Given the description of an element on the screen output the (x, y) to click on. 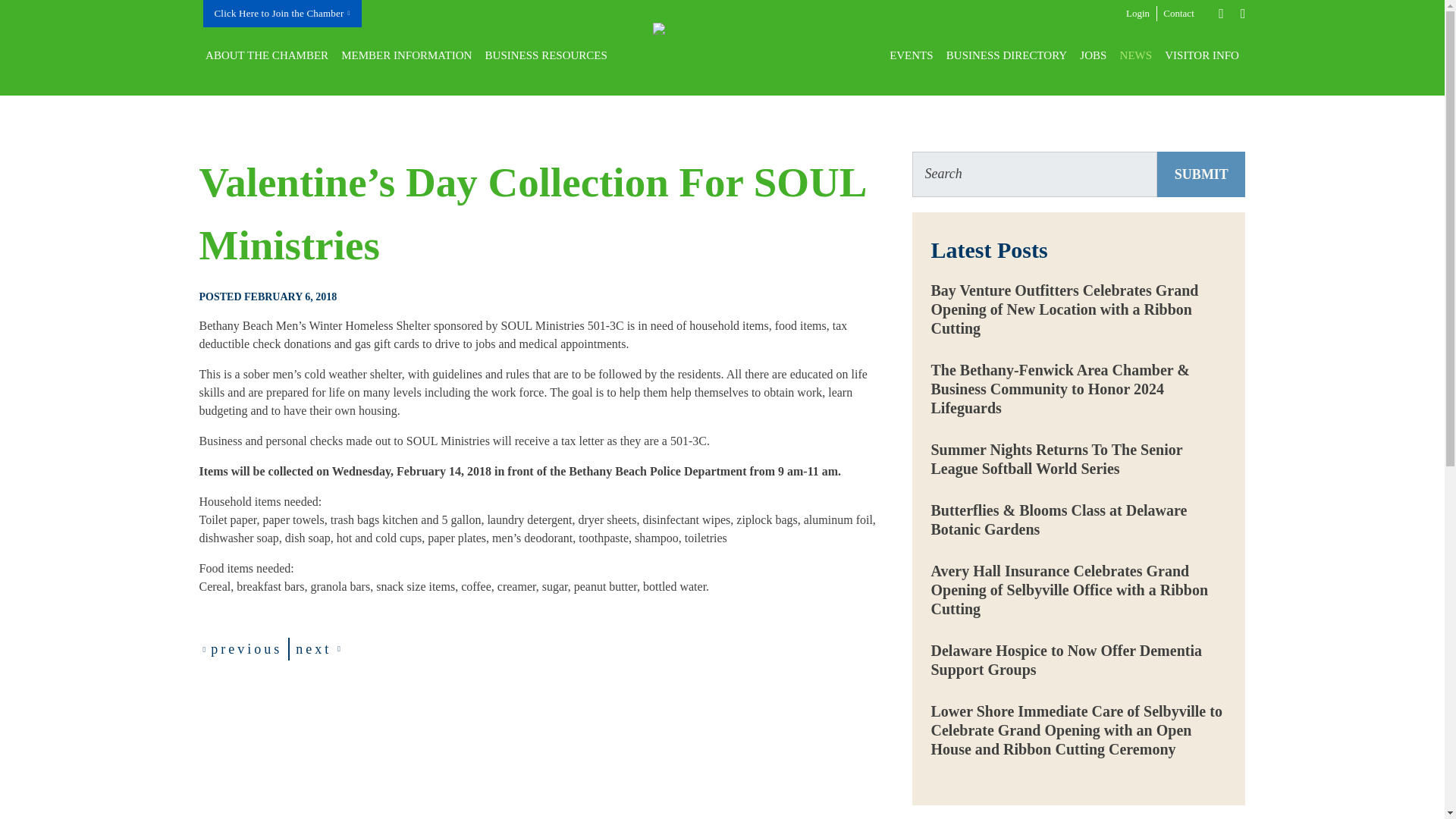
MEMBER INFORMATION (406, 55)
Click Here to Join the Chamber (282, 13)
BUSINESS RESOURCES (545, 55)
ABOUT THE CHAMBER (266, 55)
Login (1137, 13)
JOBS (1093, 55)
Contact (1179, 13)
Bethany-Fenwick Area Chamber of Commerce (763, 55)
EVENTS (911, 55)
NEWS (1135, 55)
BUSINESS DIRECTORY (1006, 55)
VISITOR INFO (1202, 55)
